Given the description of an element on the screen output the (x, y) to click on. 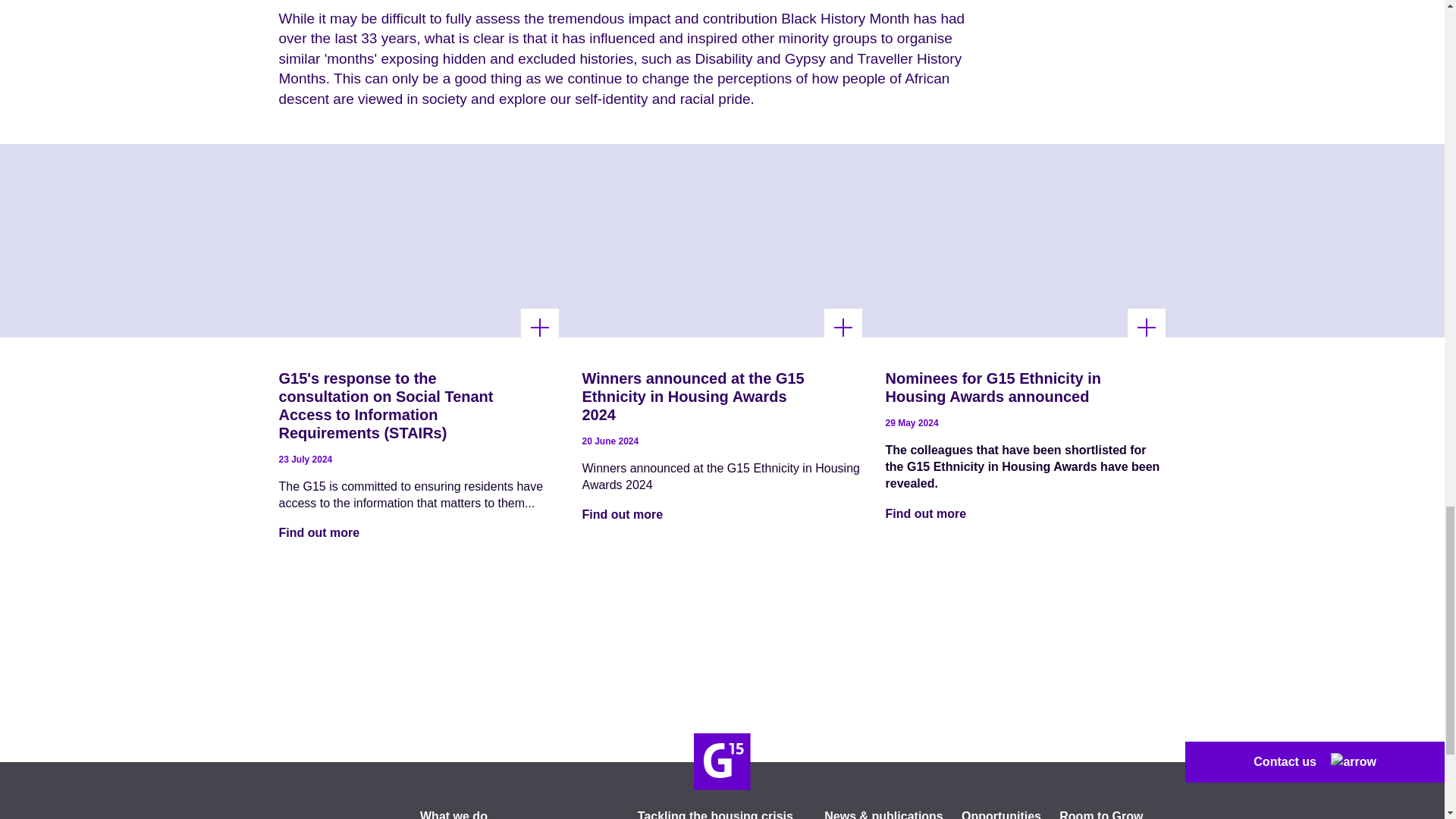
Read Full Article (540, 327)
What we do (453, 814)
Read Full Article (1146, 327)
Contact us (1314, 762)
Read Full Article (842, 327)
